Given the description of an element on the screen output the (x, y) to click on. 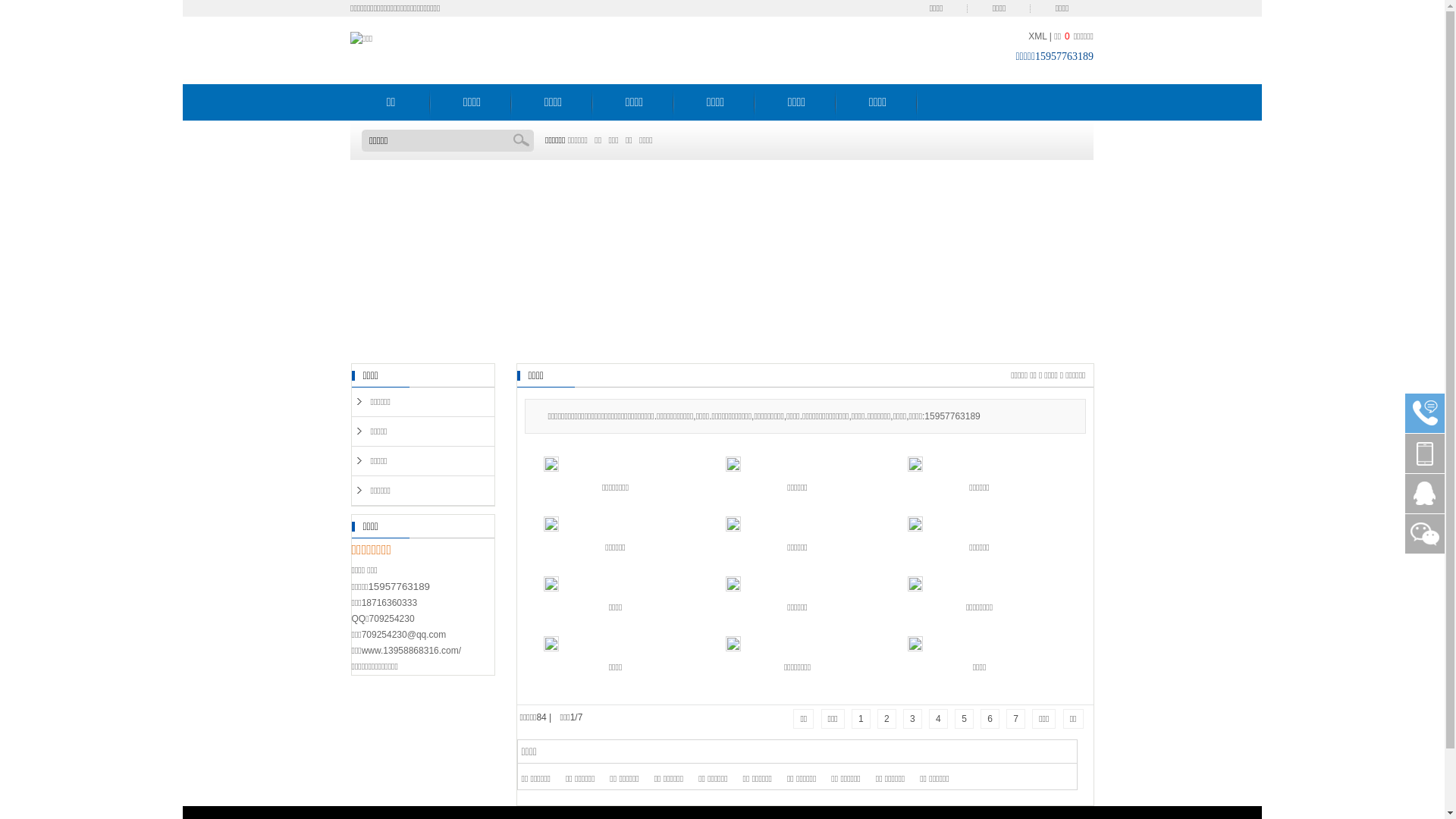
3 Element type: text (912, 718)
5 Element type: text (963, 718)
www.13958868316.com/ Element type: text (411, 649)
2 Element type: text (886, 718)
7 Element type: text (1015, 718)
4 Element type: text (937, 718)
1 Element type: text (860, 718)
6 Element type: text (989, 718)
XML Element type: text (1037, 36)
0 Element type: text (1066, 36)
